Given the description of an element on the screen output the (x, y) to click on. 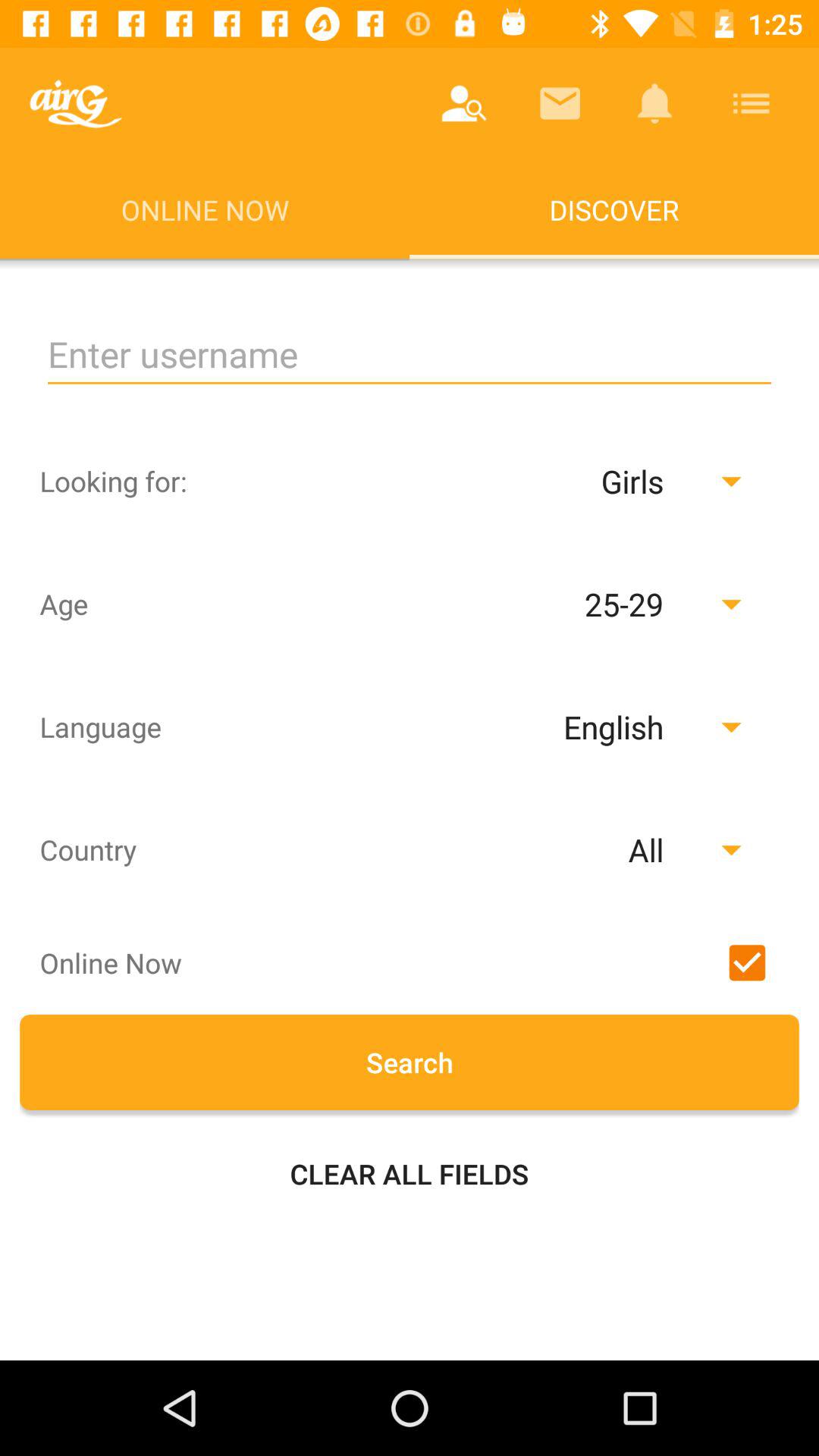
click on all button along with drop down (563, 849)
click on the button which is next to the country (563, 849)
click on search button (409, 1061)
click on the drop down below 2529 (575, 726)
click on the bell button (655, 103)
click on the drop down button of age (663, 603)
click on clear all fields (409, 1173)
click on drop down button of language (575, 726)
